Given the description of an element on the screen output the (x, y) to click on. 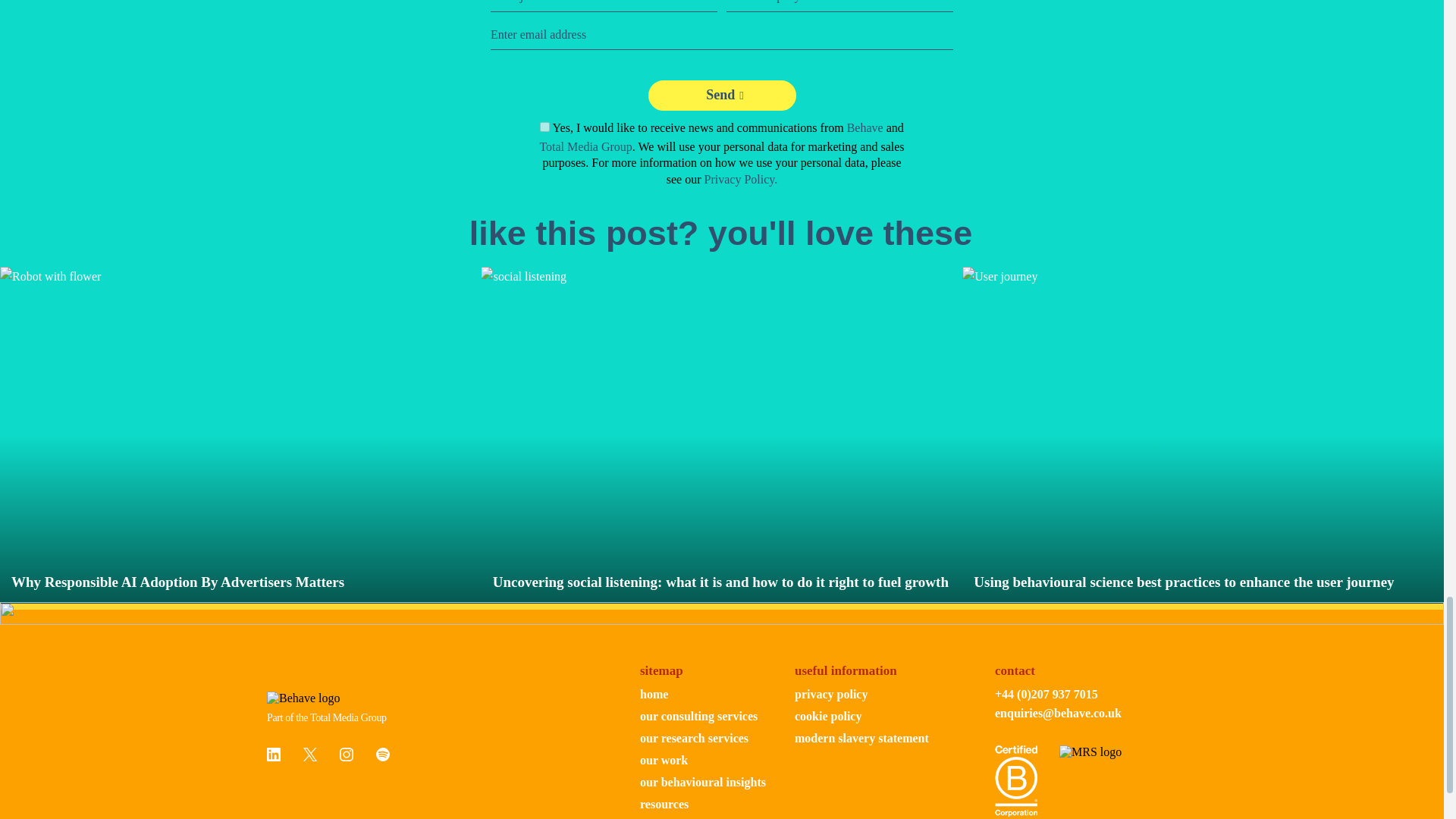
Behave (865, 127)
1 (545, 126)
Privacy Policy. (740, 178)
Part of the Total Media Group (338, 717)
Total Media Group (584, 146)
Send (720, 95)
